Given the description of an element on the screen output the (x, y) to click on. 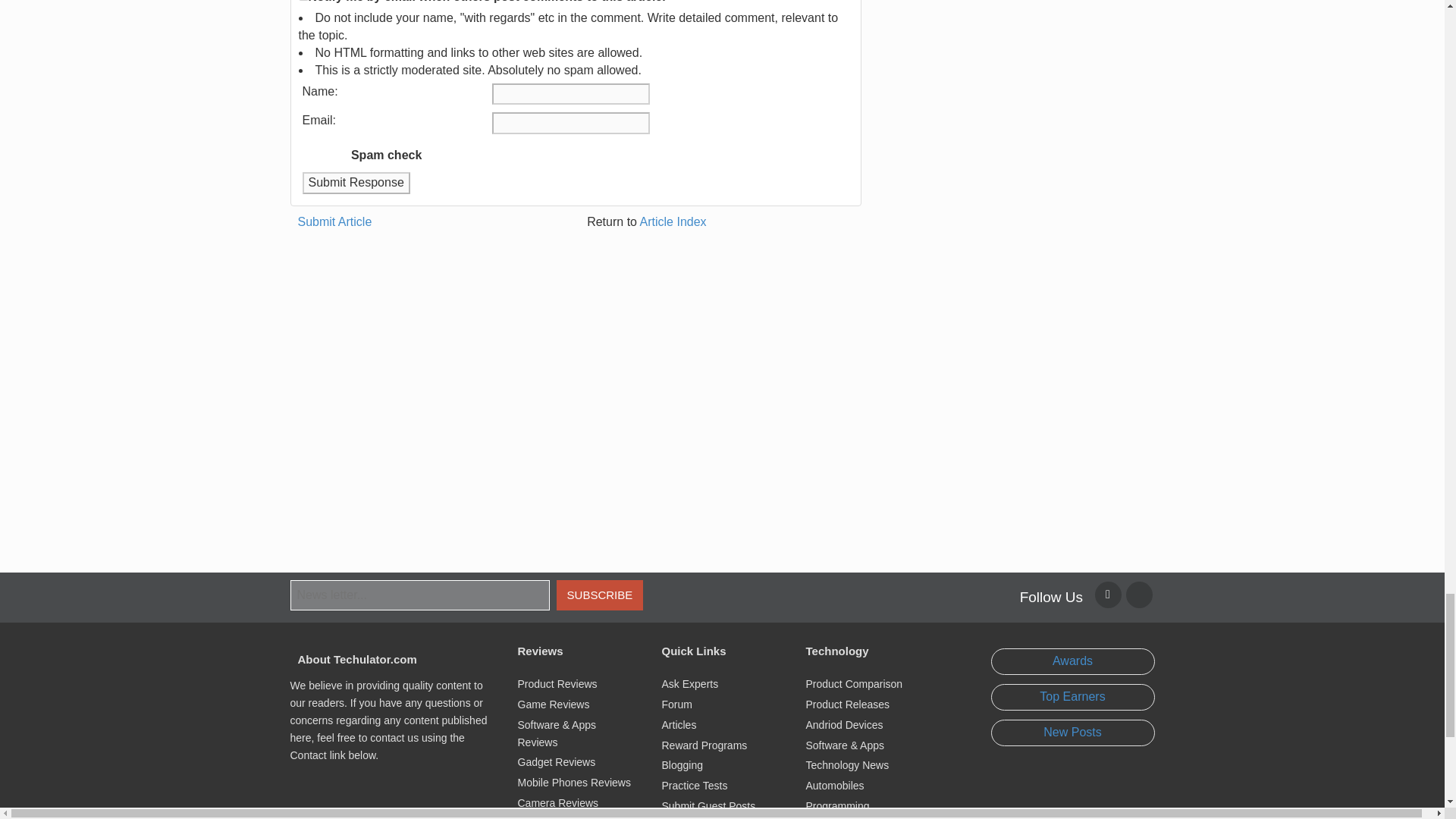
Submit Response (355, 182)
